Given the description of an element on the screen output the (x, y) to click on. 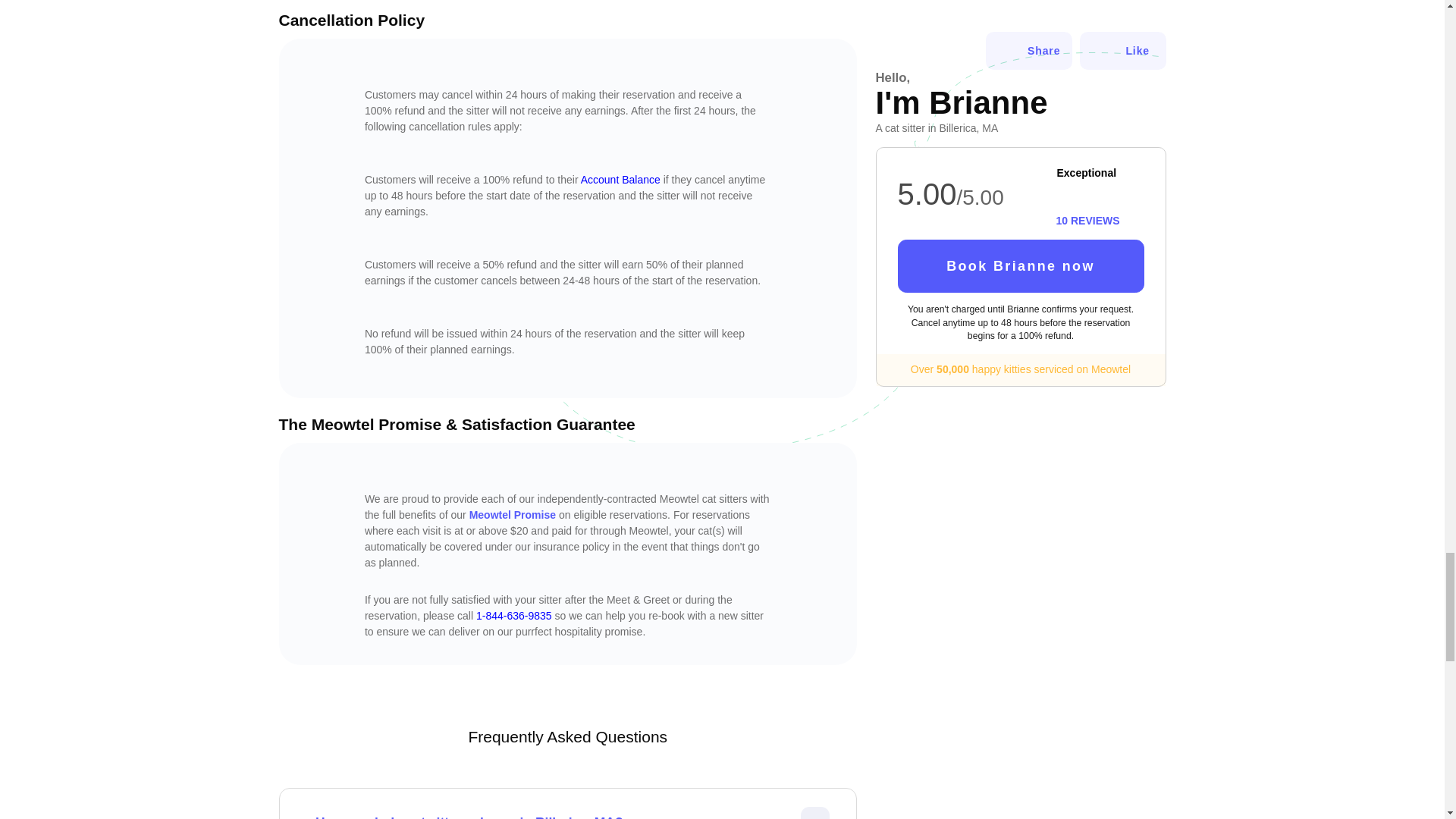
1-844-636-9835 (513, 615)
How much do cat sitters charge in Billerica, MA? (572, 815)
Meowtel Promise (512, 514)
Account Balance (620, 179)
